Given the description of an element on the screen output the (x, y) to click on. 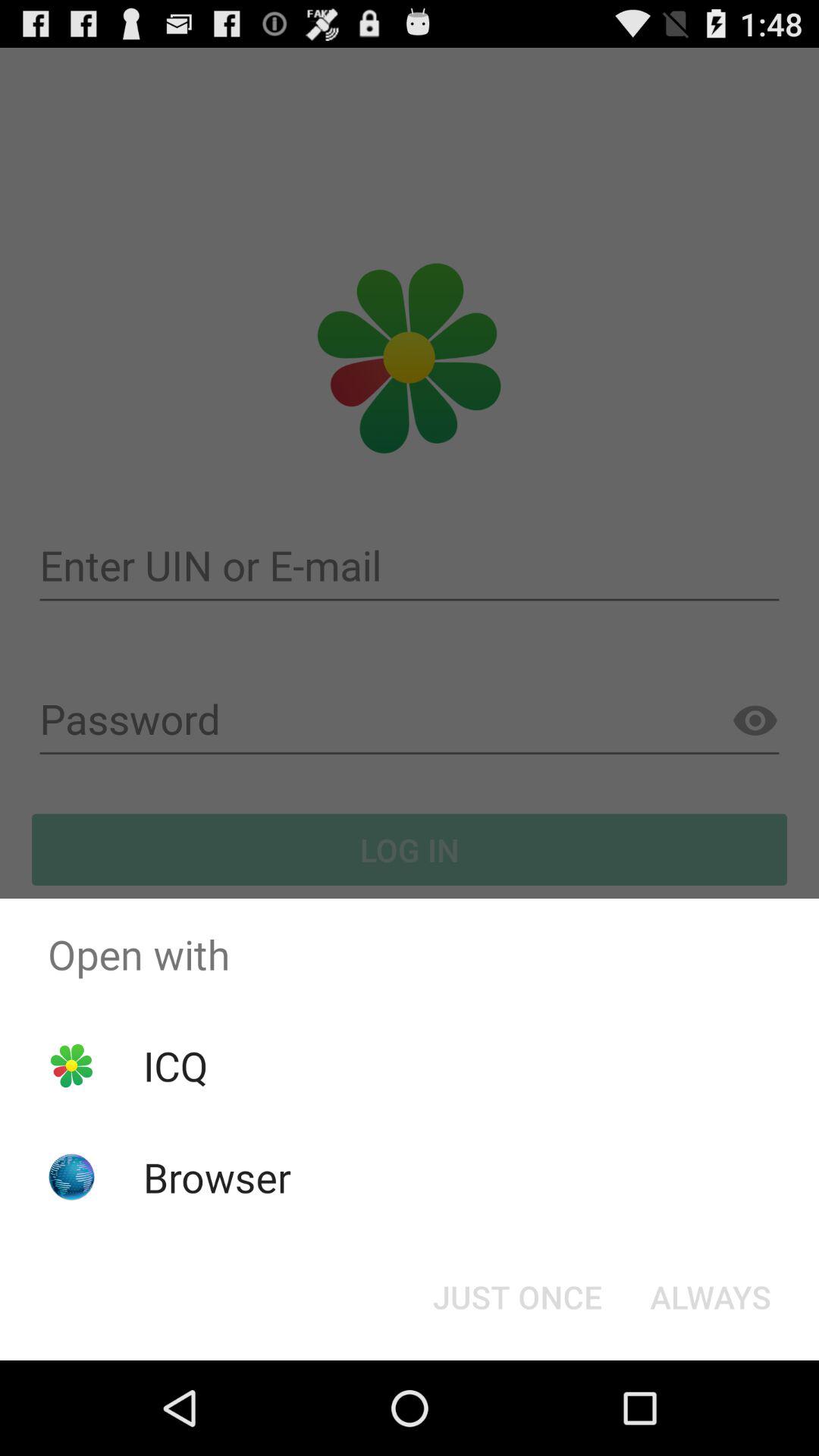
launch browser (217, 1176)
